Given the description of an element on the screen output the (x, y) to click on. 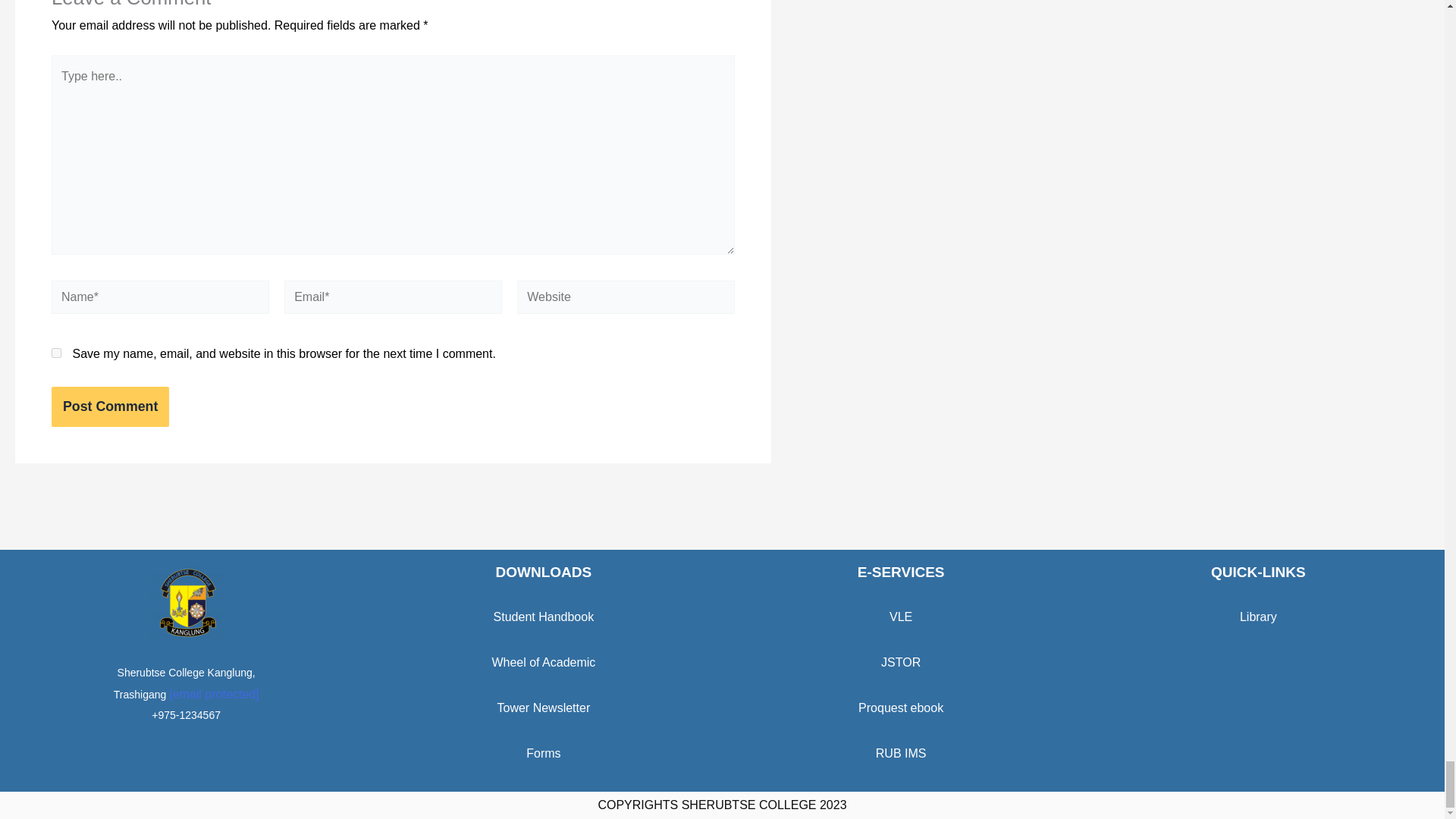
Post Comment (109, 406)
yes (55, 352)
